Given the description of an element on the screen output the (x, y) to click on. 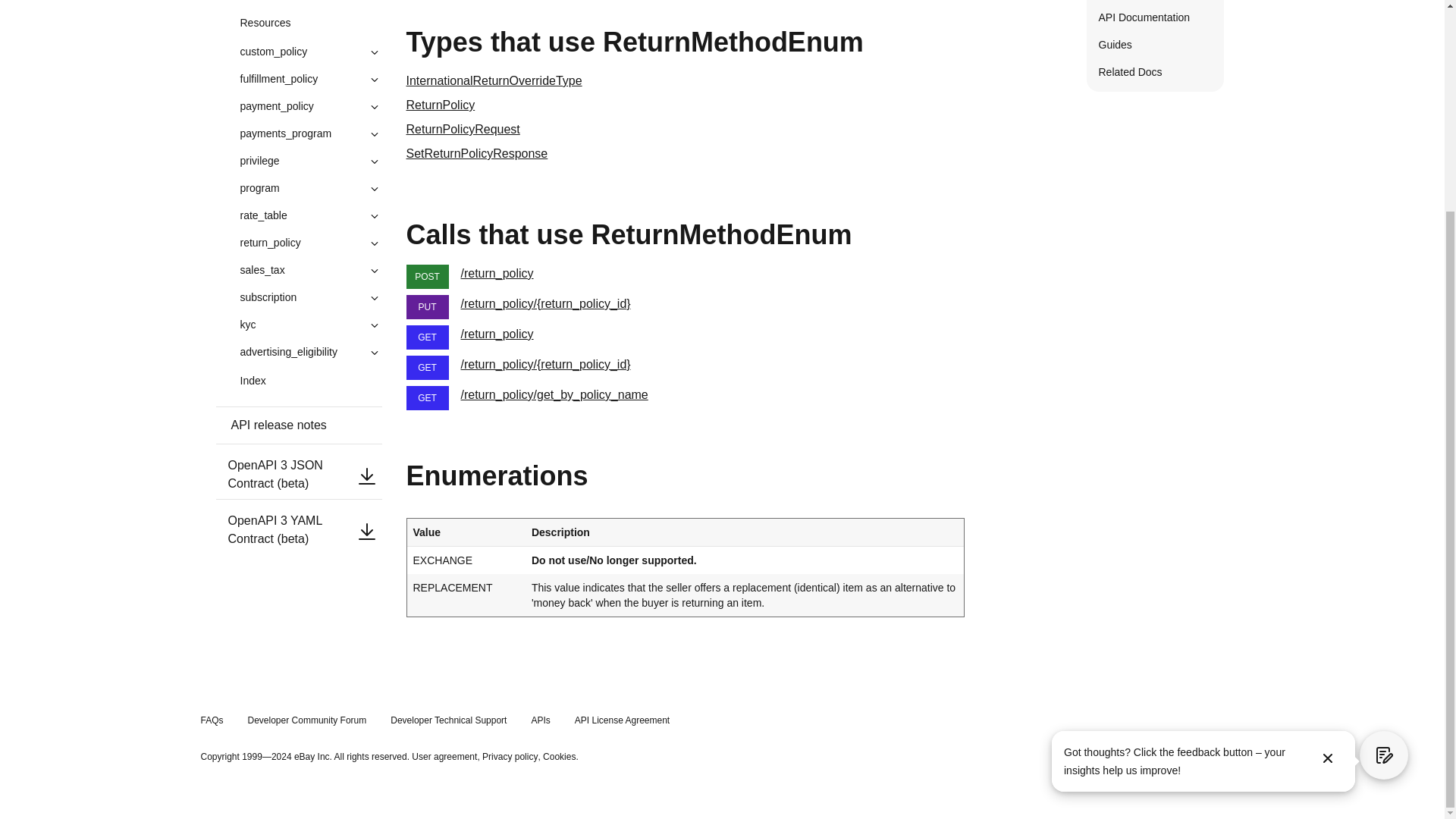
opens in new window or tab (444, 756)
opens in new window or tab (509, 756)
opens in new window or tab (559, 756)
